Given the description of an element on the screen output the (x, y) to click on. 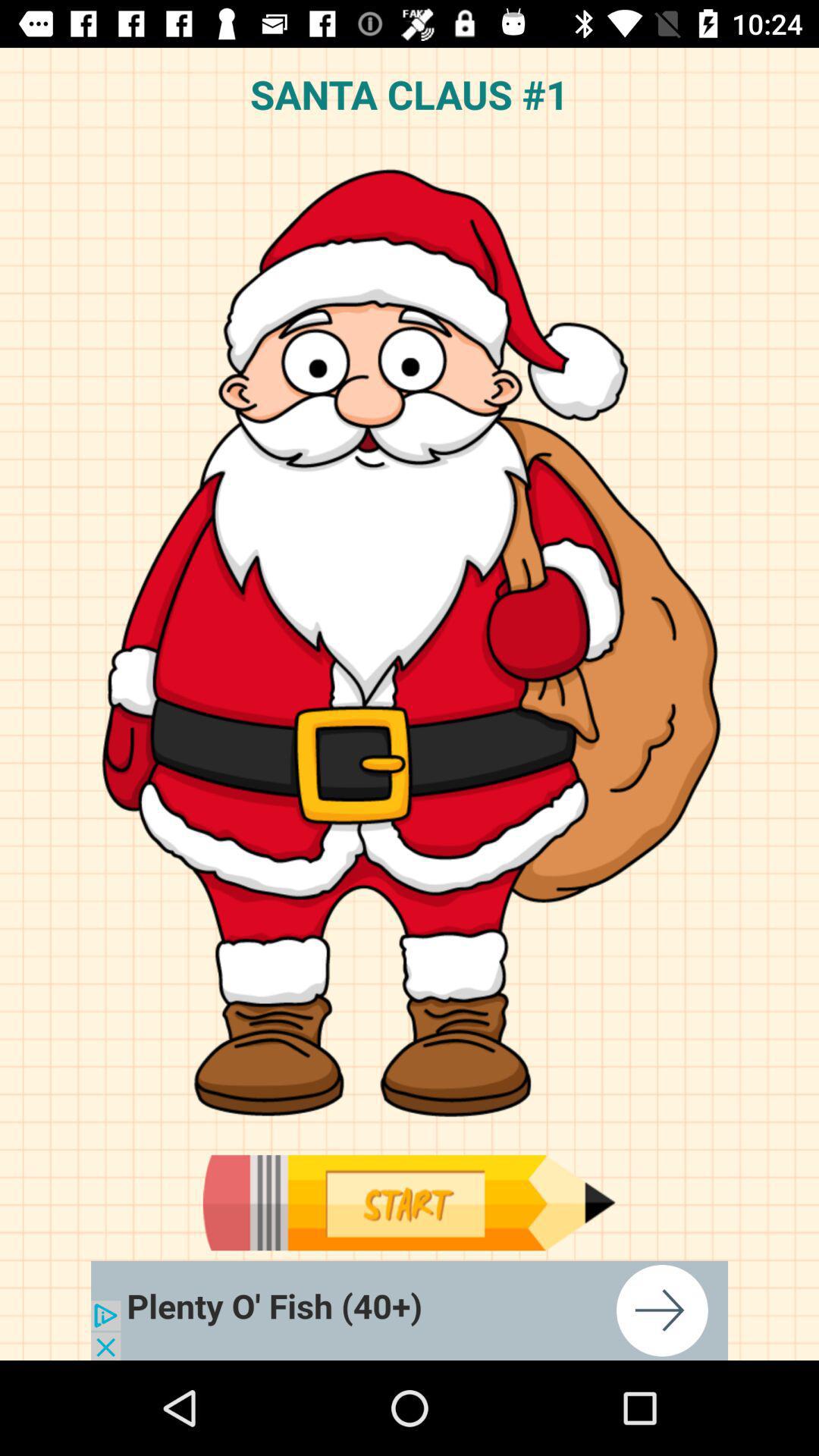
start playing (409, 1202)
